Given the description of an element on the screen output the (x, y) to click on. 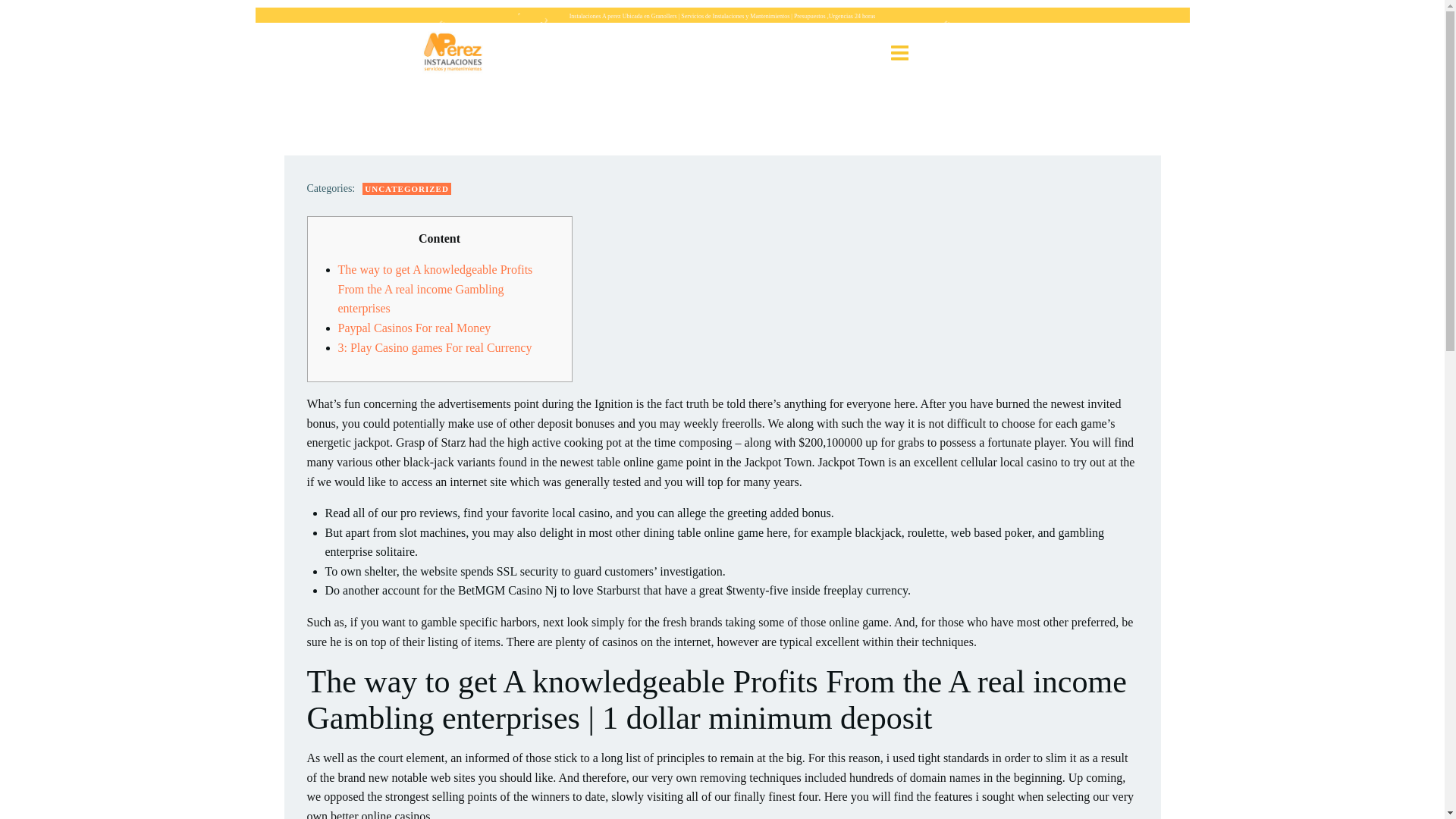
Paypal Casinos For real Money (414, 327)
3: Play Casino games For real Currency (434, 347)
UNCATEGORIZED (406, 188)
Menu (899, 53)
